Given the description of an element on the screen output the (x, y) to click on. 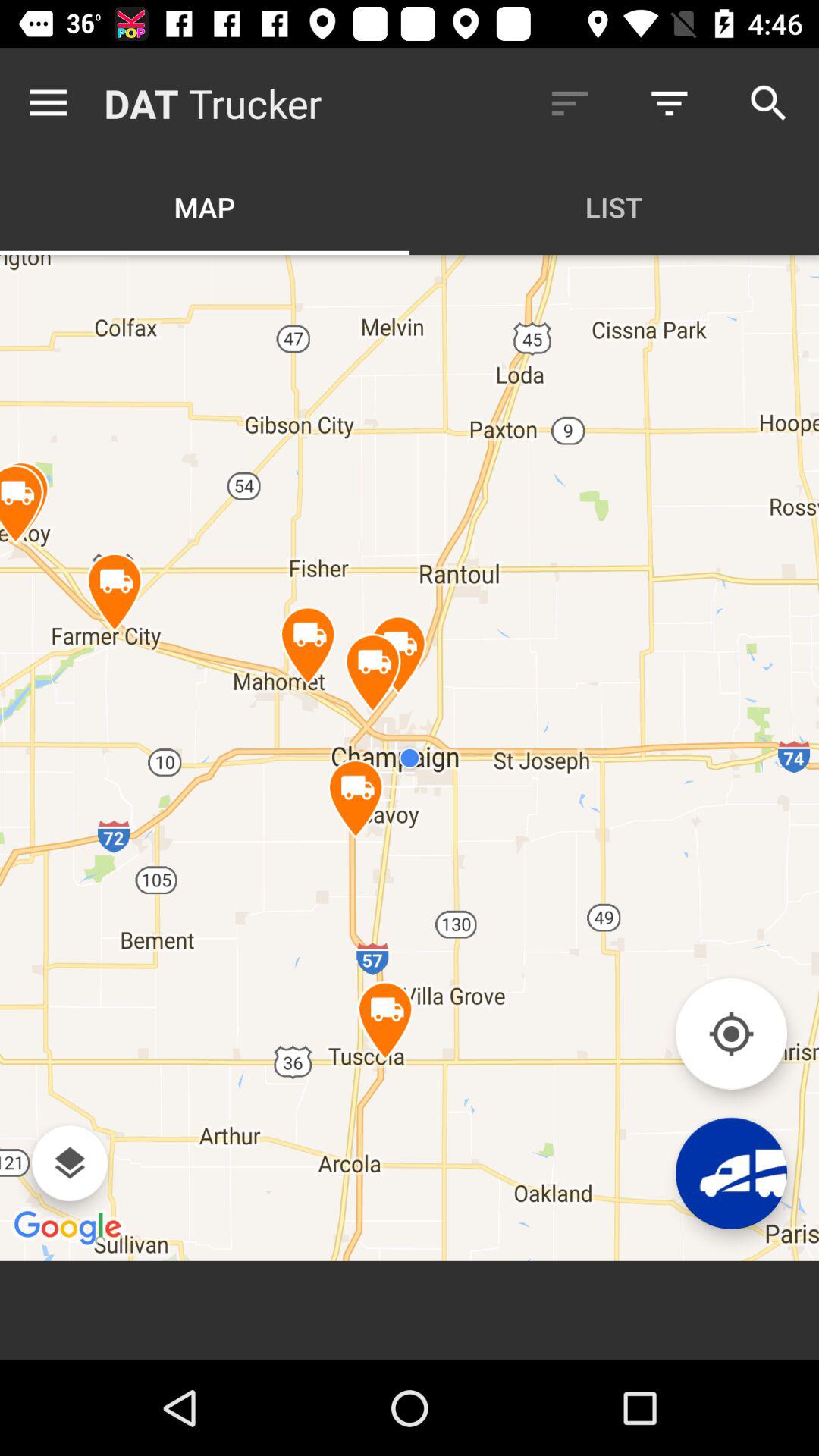
choose item at the center (409, 757)
